Given the description of an element on the screen output the (x, y) to click on. 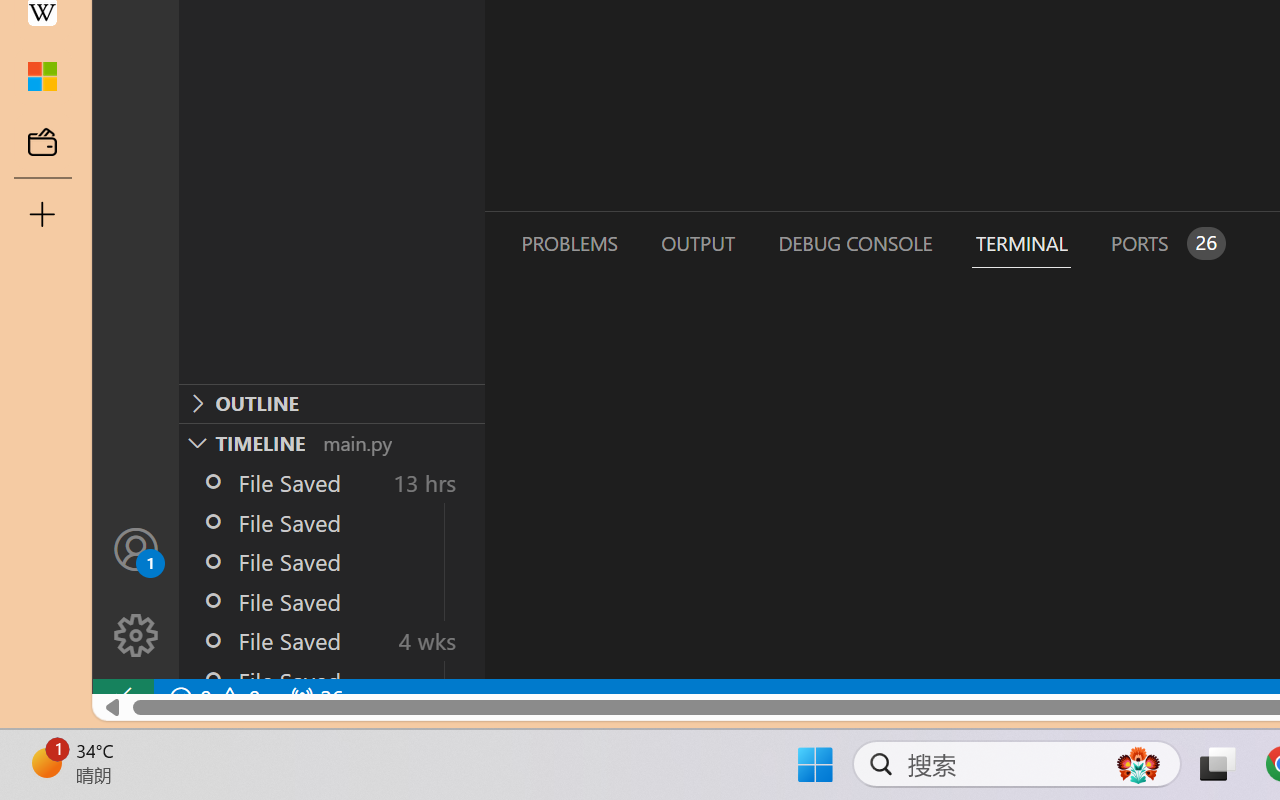
Outline Section (331, 403)
No Problems (212, 698)
Manage (135, 635)
Output (Ctrl+Shift+U) (696, 243)
Problems (Ctrl+Shift+M) (567, 243)
Terminal (Ctrl+`) (1021, 243)
Debug Console (Ctrl+Shift+Y) (854, 243)
remote (122, 698)
